Given the description of an element on the screen output the (x, y) to click on. 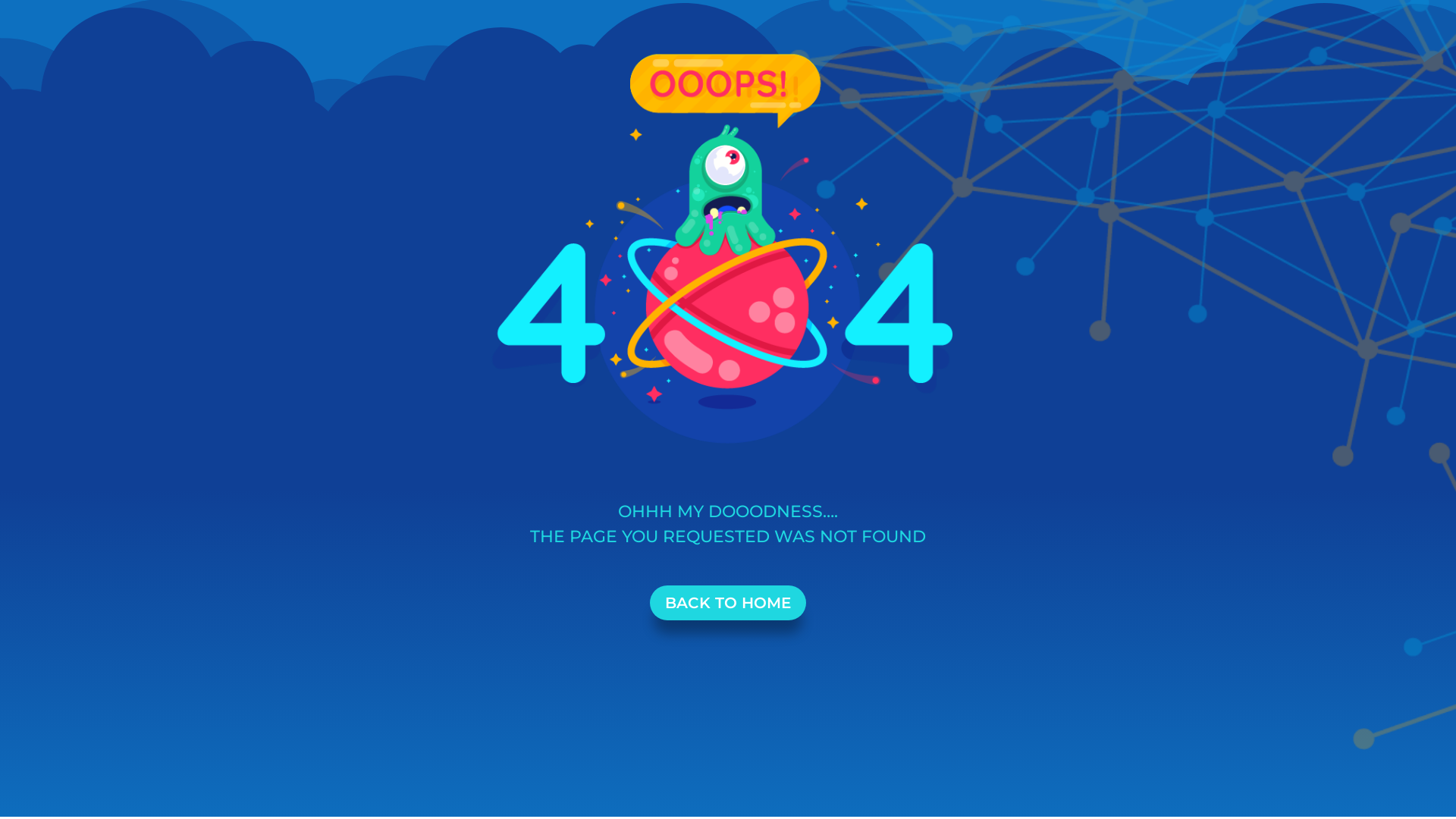
BACK TO HOME Element type: text (727, 602)
